Given the description of an element on the screen output the (x, y) to click on. 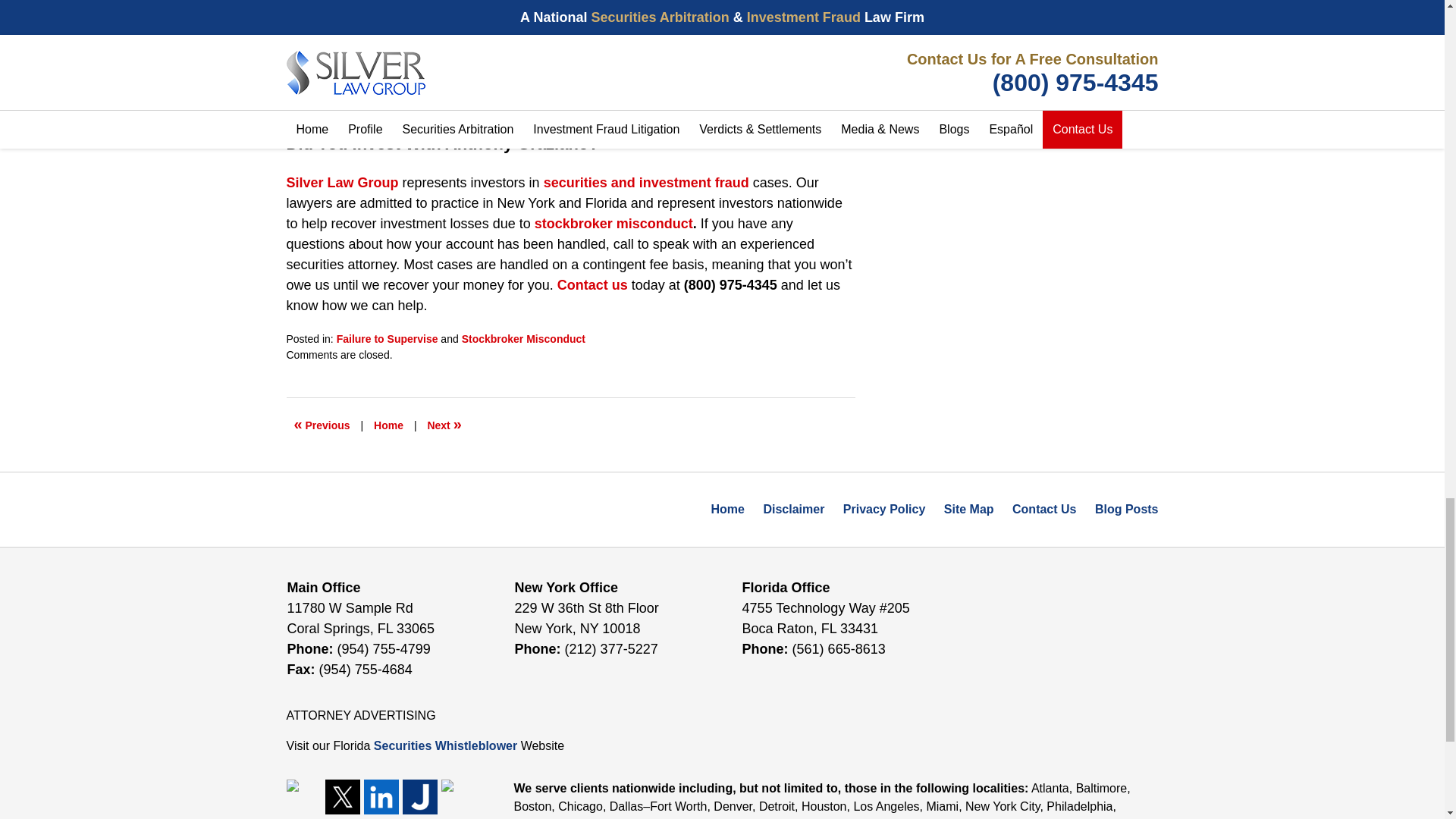
View all posts in Stockbroker Misconduct (523, 338)
Justia (418, 796)
Facebook (303, 796)
Feed (458, 796)
Twitter (341, 796)
View all posts in Failure to Supervise (387, 338)
LinkedIn (381, 796)
David Khezri Permanently Barred By FINRA (443, 424)
